Given the description of an element on the screen output the (x, y) to click on. 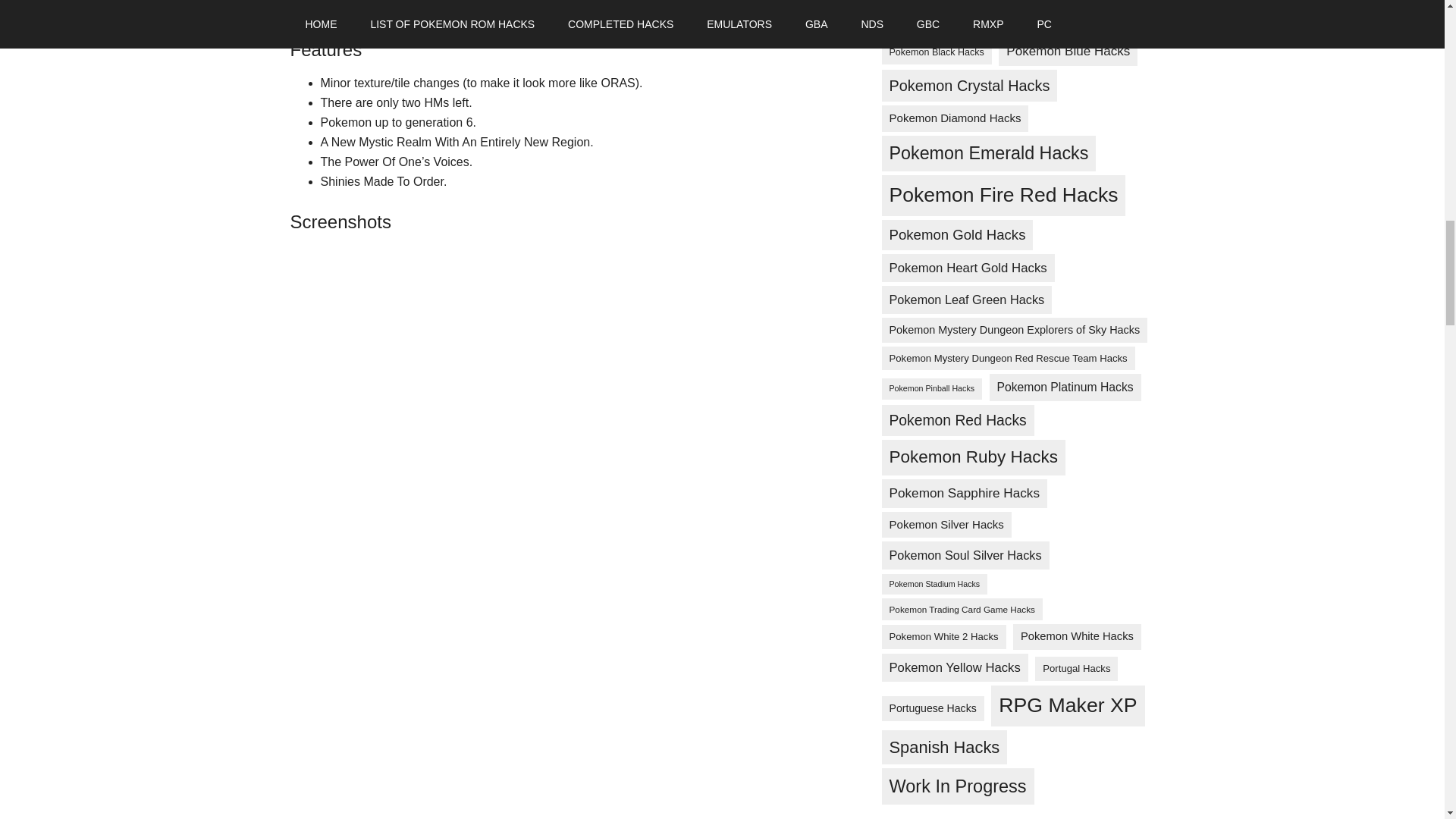
Pokemon Reworld Screenshot (402, 721)
Pokemon Reworld Screenshot (402, 581)
Pokemon Reworld Screenshot (402, 441)
Pokemon Reworld Screenshot (402, 811)
Pokemon Reworld Screenshot (402, 302)
